Given the description of an element on the screen output the (x, y) to click on. 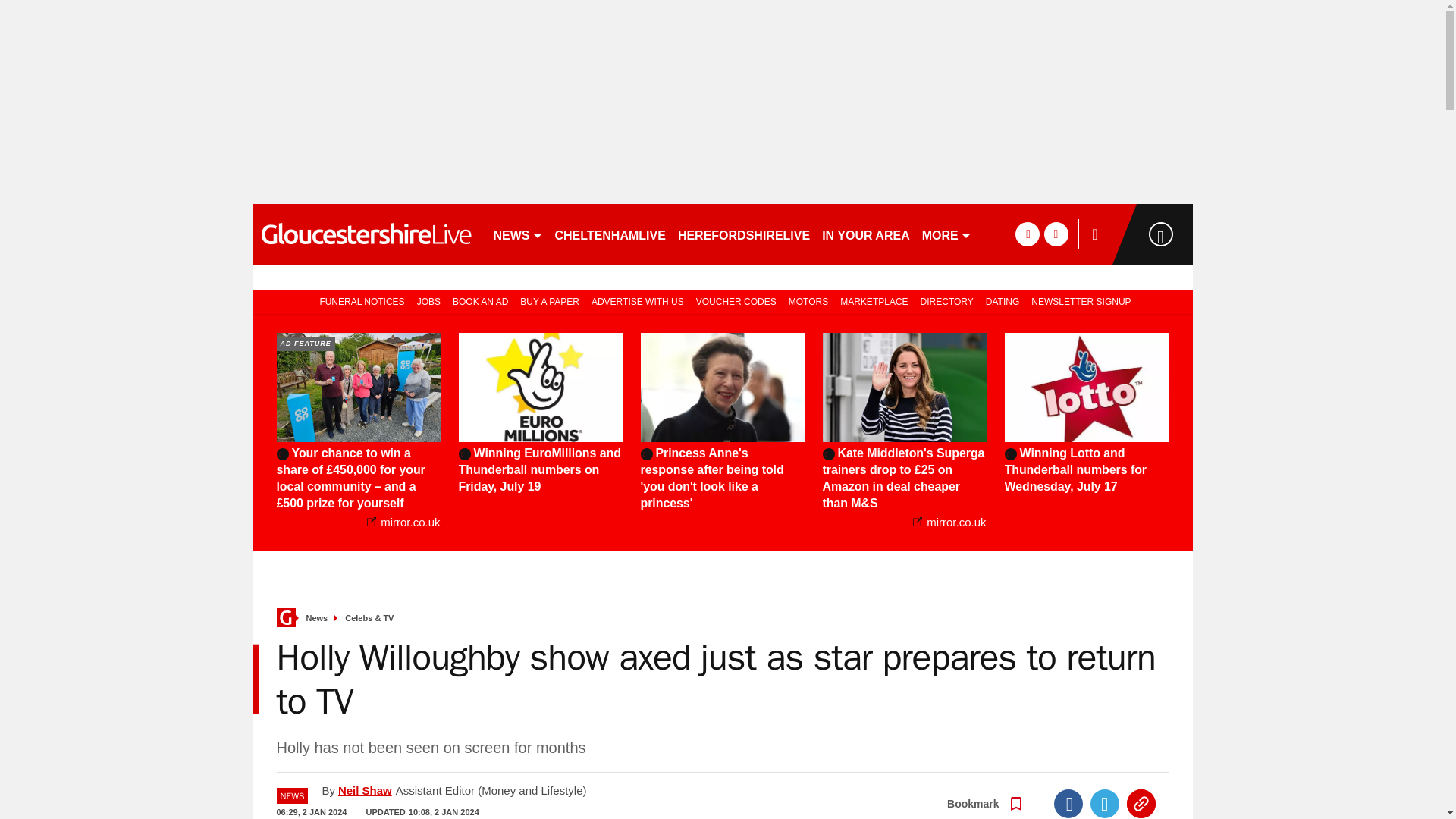
Facebook (1068, 803)
gloucestershirelive (365, 233)
CHELTENHAMLIVE (609, 233)
MORE (945, 233)
Twitter (1104, 803)
NEWS (517, 233)
twitter (1055, 233)
IN YOUR AREA (865, 233)
HEREFORDSHIRELIVE (743, 233)
facebook (1026, 233)
